Given the description of an element on the screen output the (x, y) to click on. 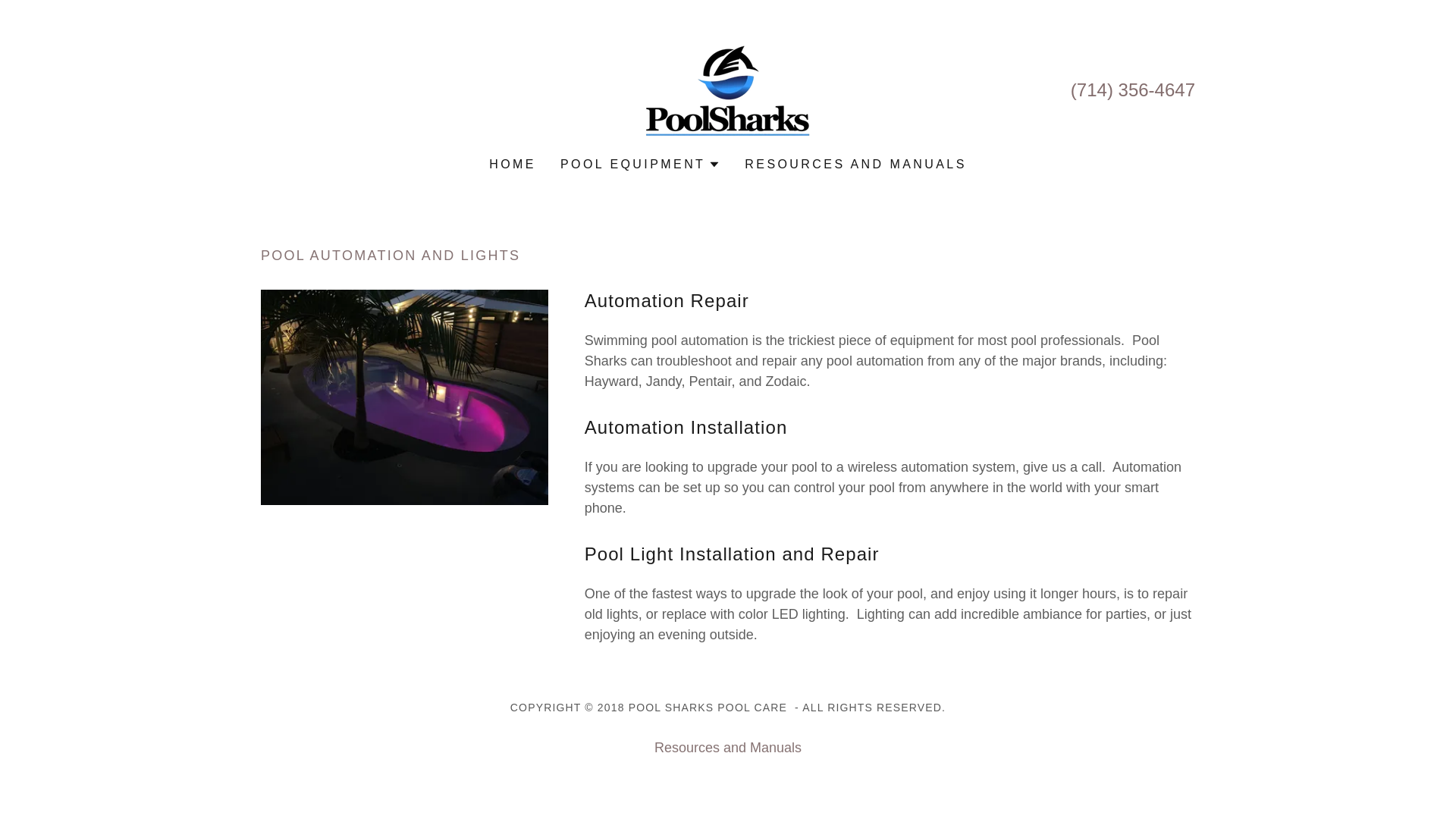
POOL EQUIPMENT (640, 164)
Resources and Manuals (727, 747)
RESOURCES AND MANUALS (855, 164)
HOME (512, 164)
Pool Sharks (727, 88)
